Given the description of an element on the screen output the (x, y) to click on. 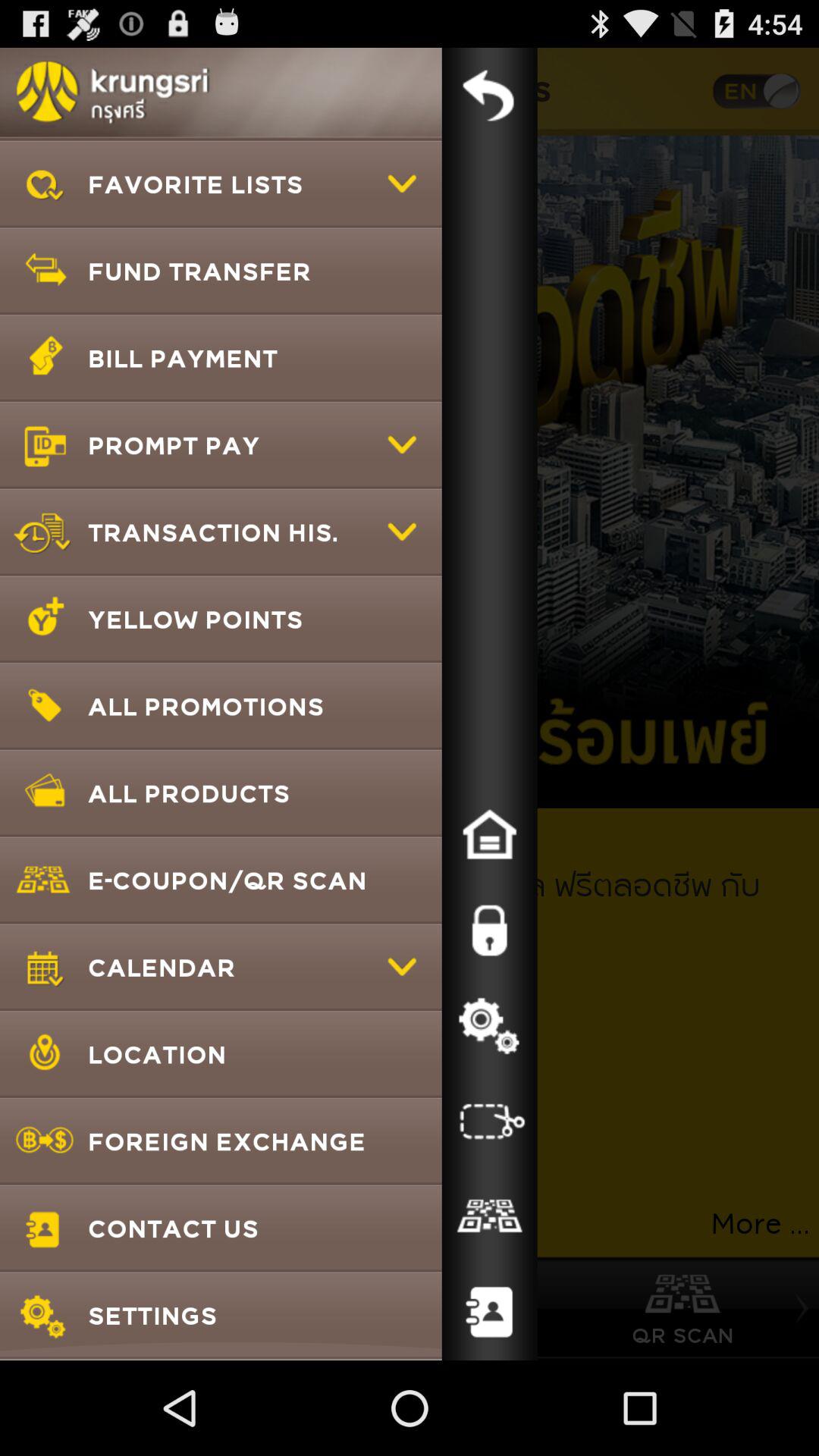
select settings (489, 1025)
